Given the description of an element on the screen output the (x, y) to click on. 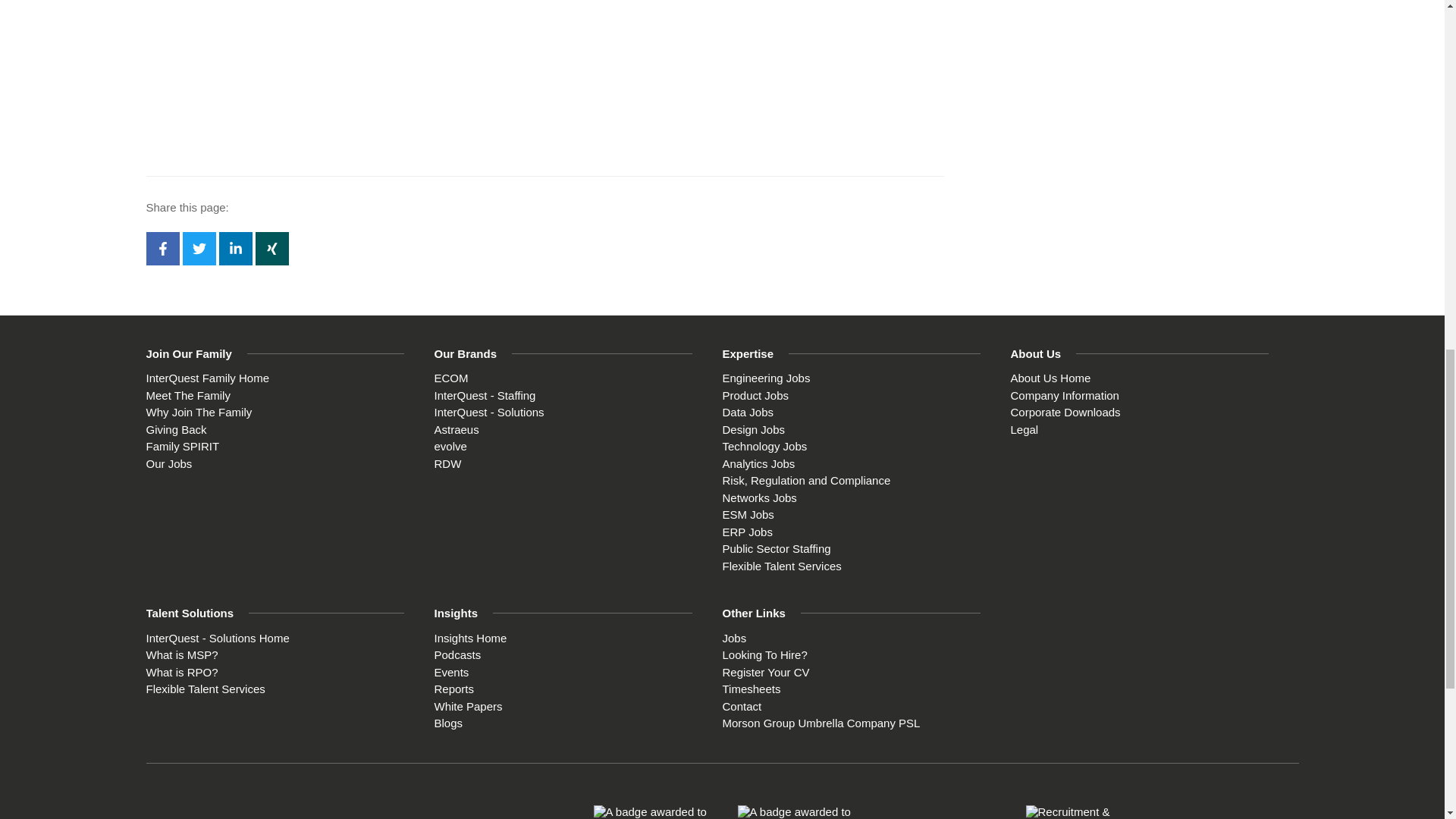
Share on Twitter (199, 248)
Share on Facebook (162, 248)
Share on LinkedIn (235, 248)
Share on Xing (272, 248)
